Given the description of an element on the screen output the (x, y) to click on. 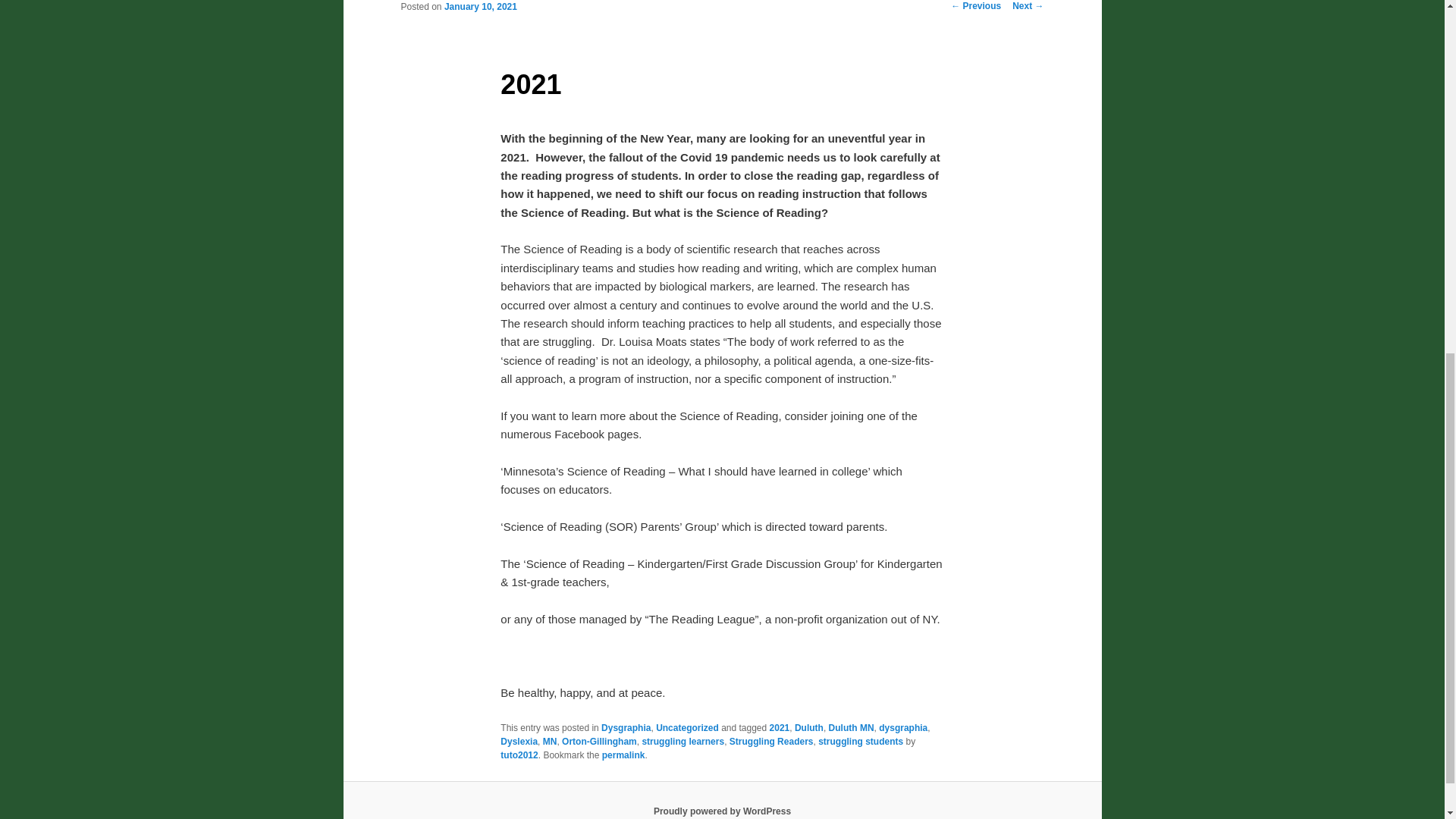
Duluth (809, 727)
struggling learners (682, 741)
Uncategorized (687, 727)
Struggling Readers (771, 741)
Semantic Personal Publishing Platform (721, 810)
dysgraphia (903, 727)
7:35 pm (480, 6)
Proudly powered by WordPress (721, 810)
MN (550, 741)
January 10, 2021 (480, 6)
Orton-Gillingham (599, 741)
Dyslexia (518, 741)
Permalink to 2021 (623, 755)
permalink (623, 755)
2021 (780, 727)
